Given the description of an element on the screen output the (x, y) to click on. 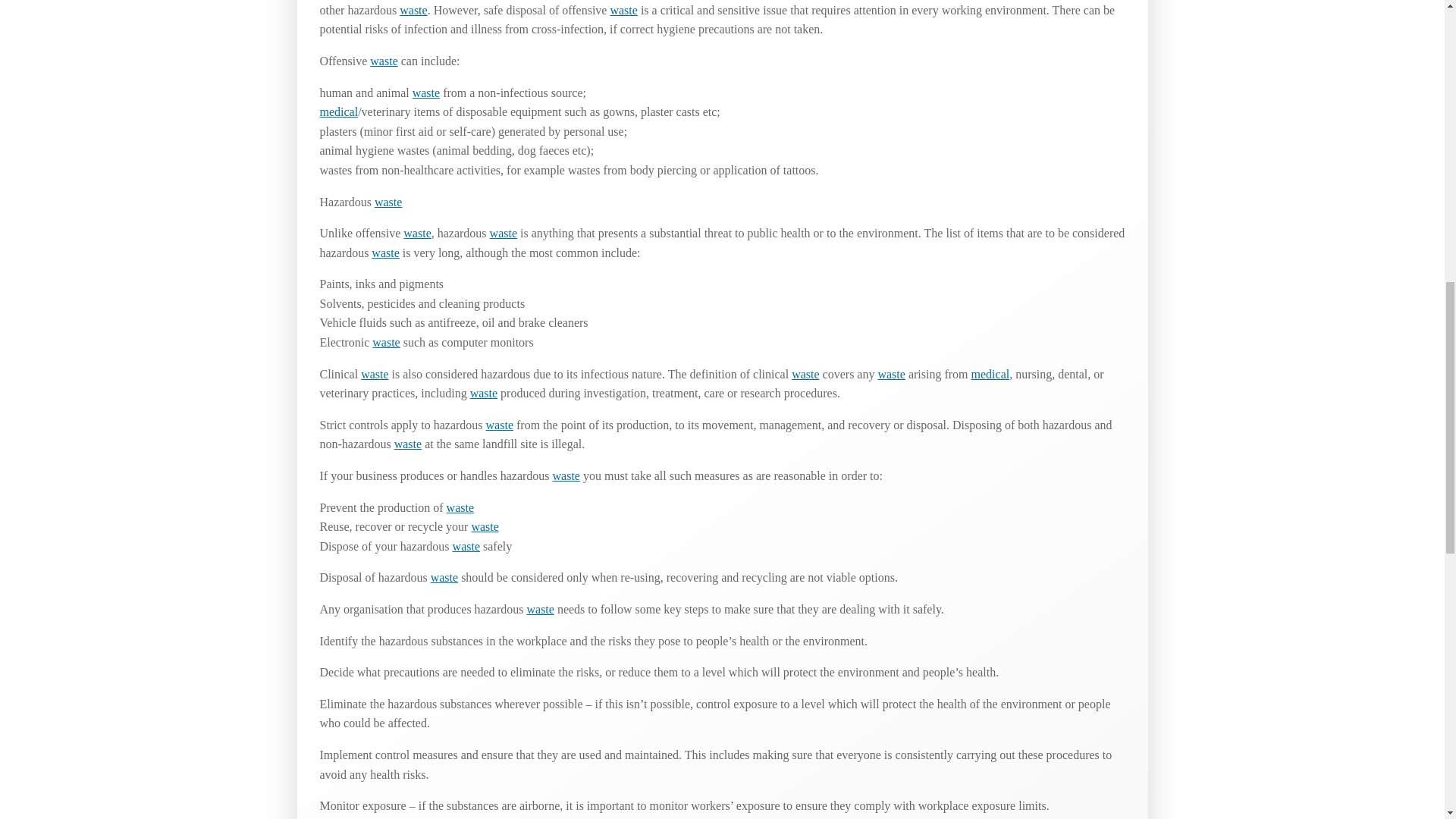
waste (805, 373)
waste (623, 10)
waste (383, 60)
waste (566, 475)
waste (460, 507)
incinerator (383, 60)
waste (499, 424)
waste (385, 341)
incinerator (623, 10)
waste (384, 252)
